Given the description of an element on the screen output the (x, y) to click on. 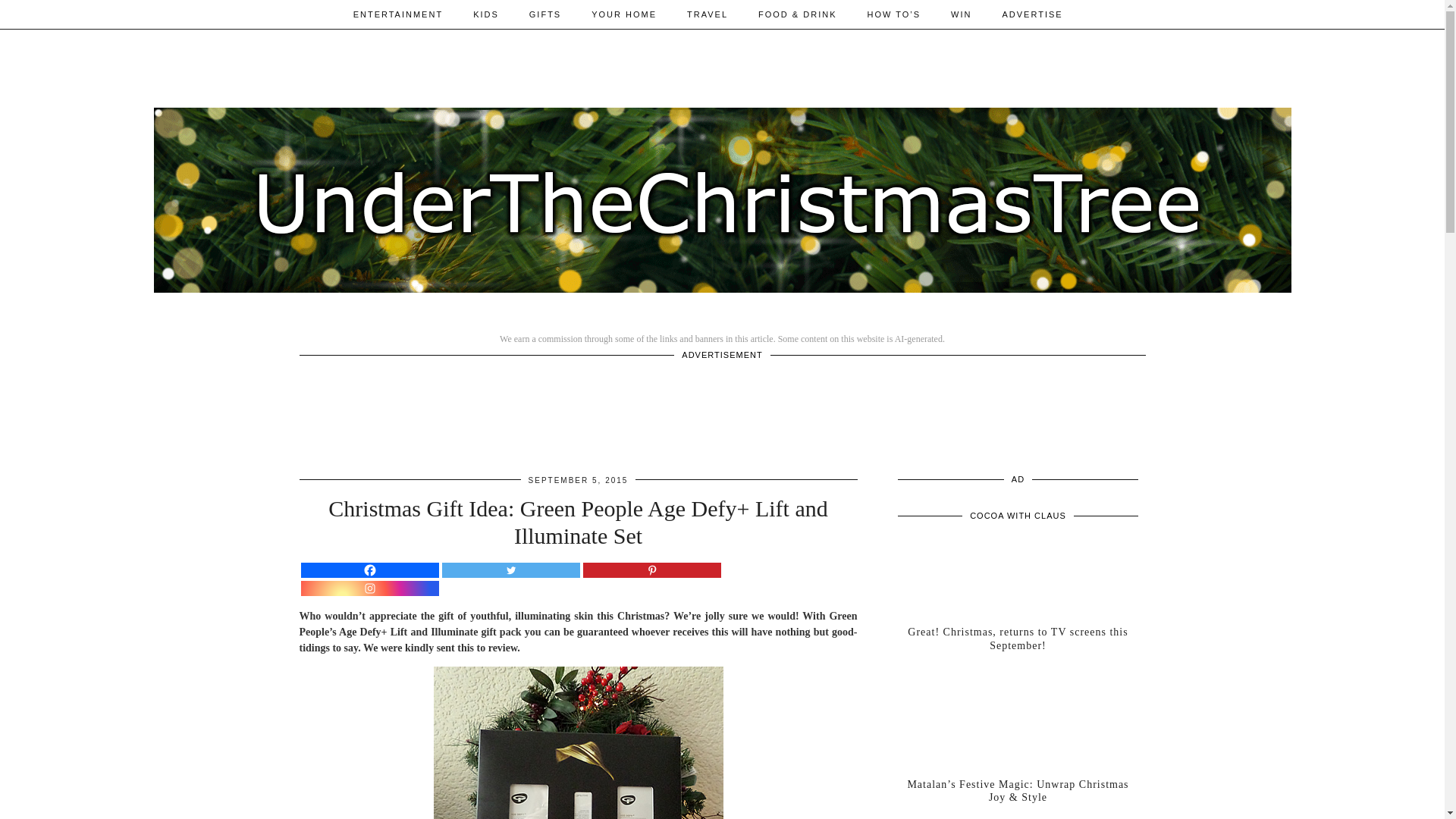
Pinterest (651, 570)
Facebook (368, 570)
Instagram (368, 588)
TRAVEL (706, 14)
Twitter (510, 570)
ENTERTAINMENT (397, 14)
KIDS (485, 14)
ADVERTISE (1032, 14)
YOUR HOME (623, 14)
WIN (961, 14)
